Given the description of an element on the screen output the (x, y) to click on. 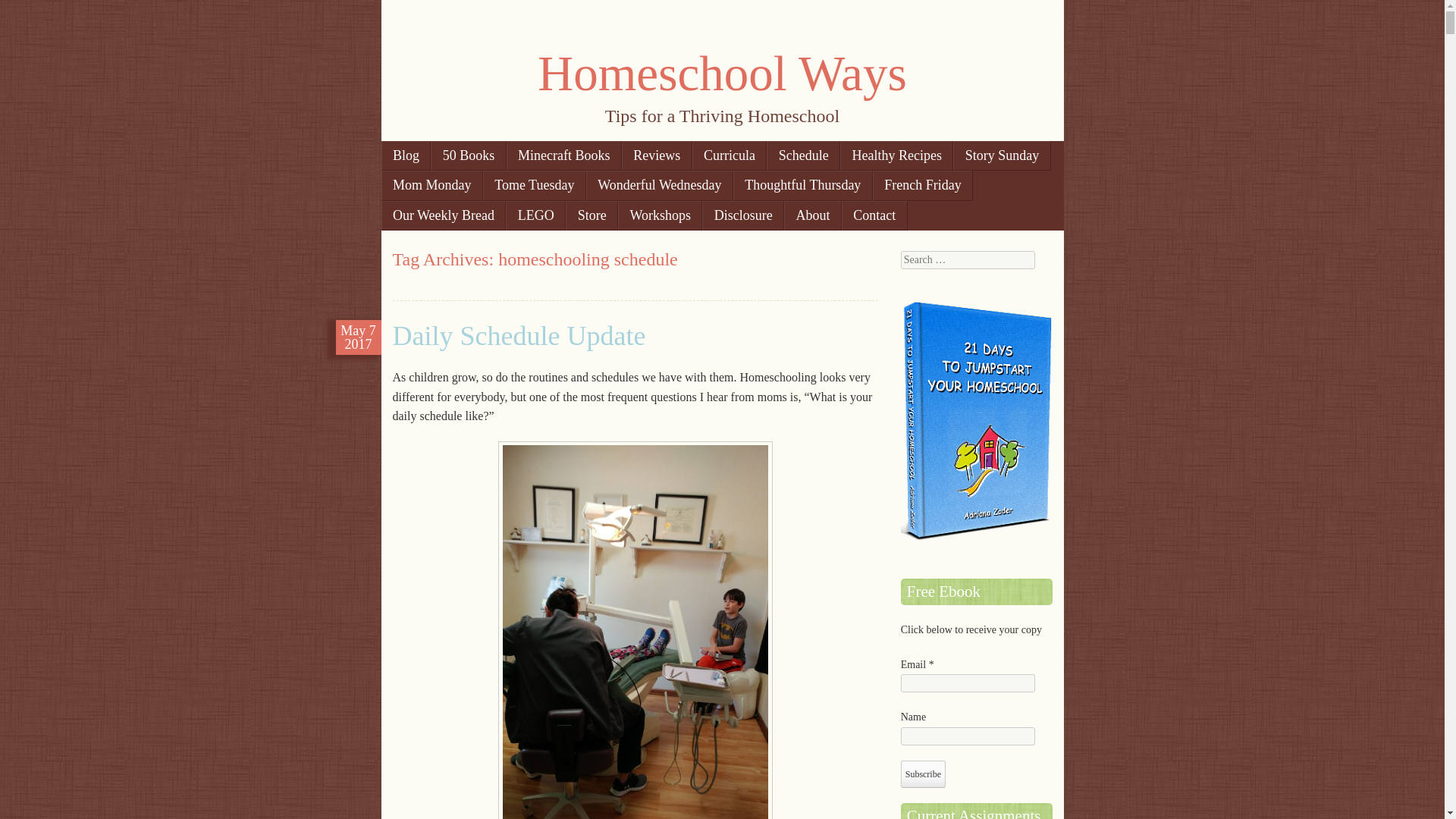
Minecraft Books (563, 155)
Our Weekly Bread (442, 215)
Disclosure (742, 215)
Permanent Link to Daily Schedule Update (358, 337)
Mom Monday (430, 184)
LEGO (535, 215)
Store (591, 215)
Subscribe (922, 773)
Blog (405, 155)
Healthy Recipes (896, 155)
